Given the description of an element on the screen output the (x, y) to click on. 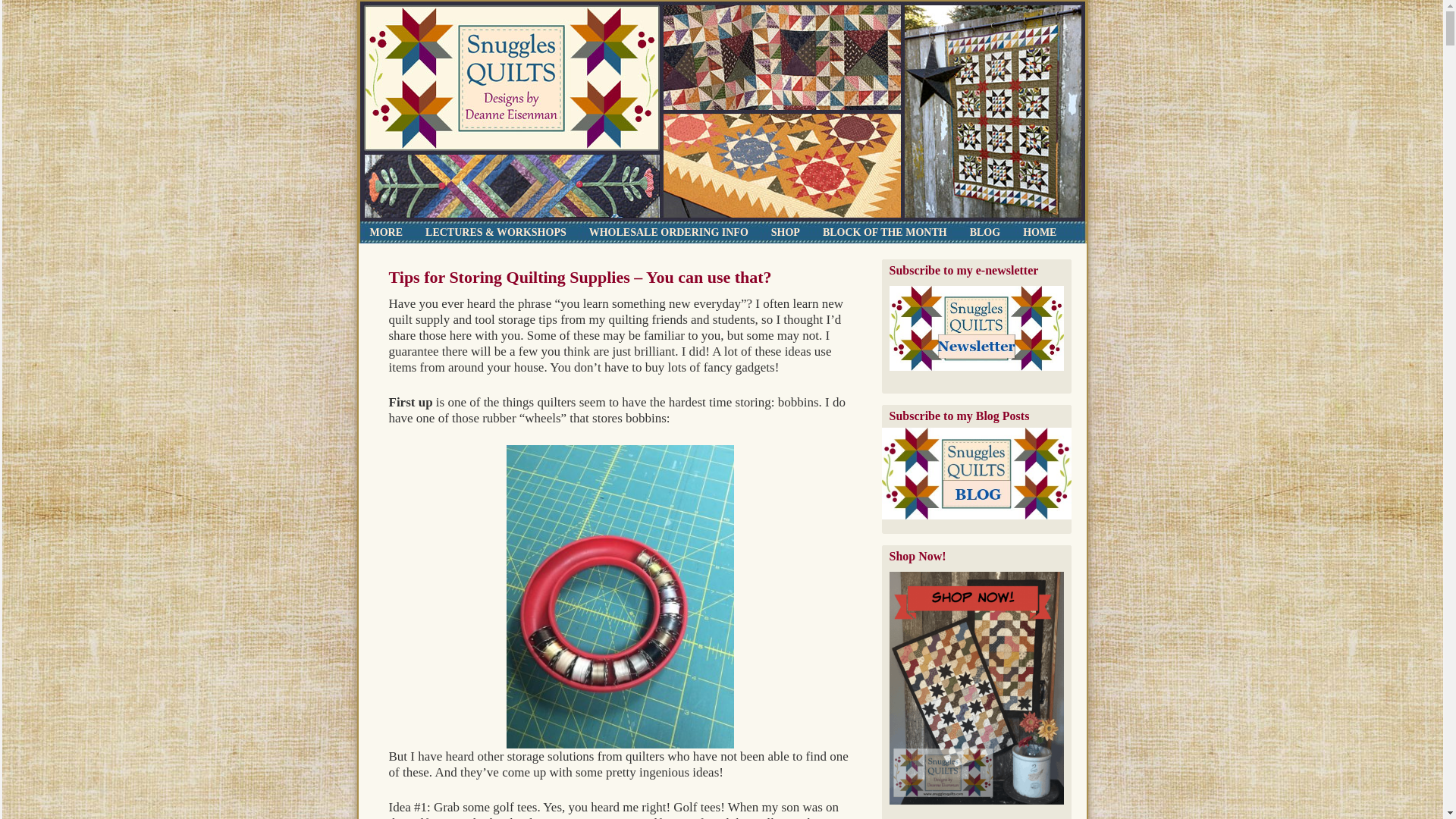
HOME (1039, 232)
BLOG (984, 232)
BLOCK OF THE MONTH (884, 232)
SHOP (785, 232)
WHOLESALE ORDERING INFO (669, 232)
MORE (385, 232)
